Given the description of an element on the screen output the (x, y) to click on. 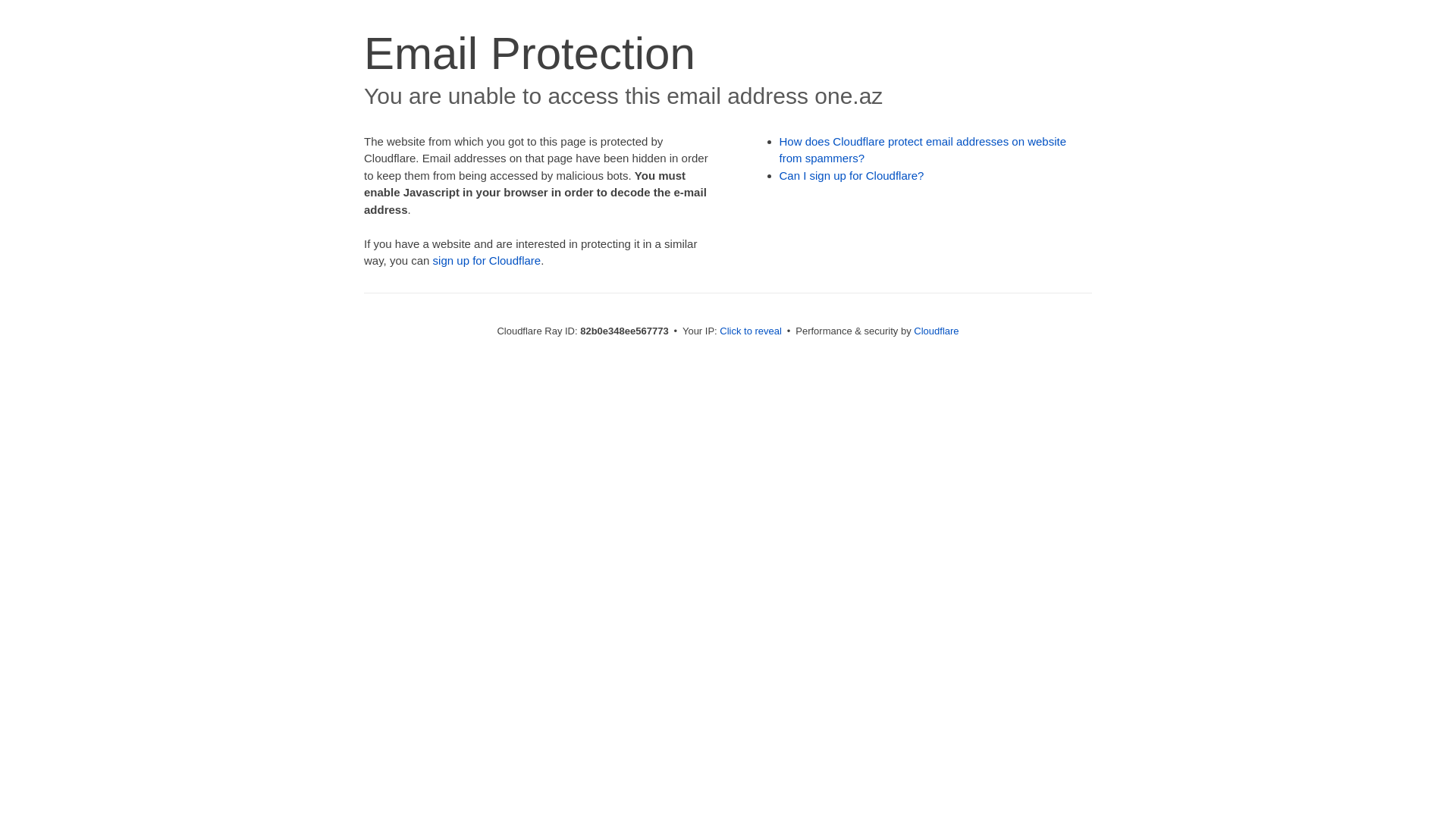
Can I sign up for Cloudflare? Element type: text (851, 175)
Click to reveal Element type: text (750, 330)
sign up for Cloudflare Element type: text (487, 260)
Cloudflare Element type: text (935, 330)
